Given the description of an element on the screen output the (x, y) to click on. 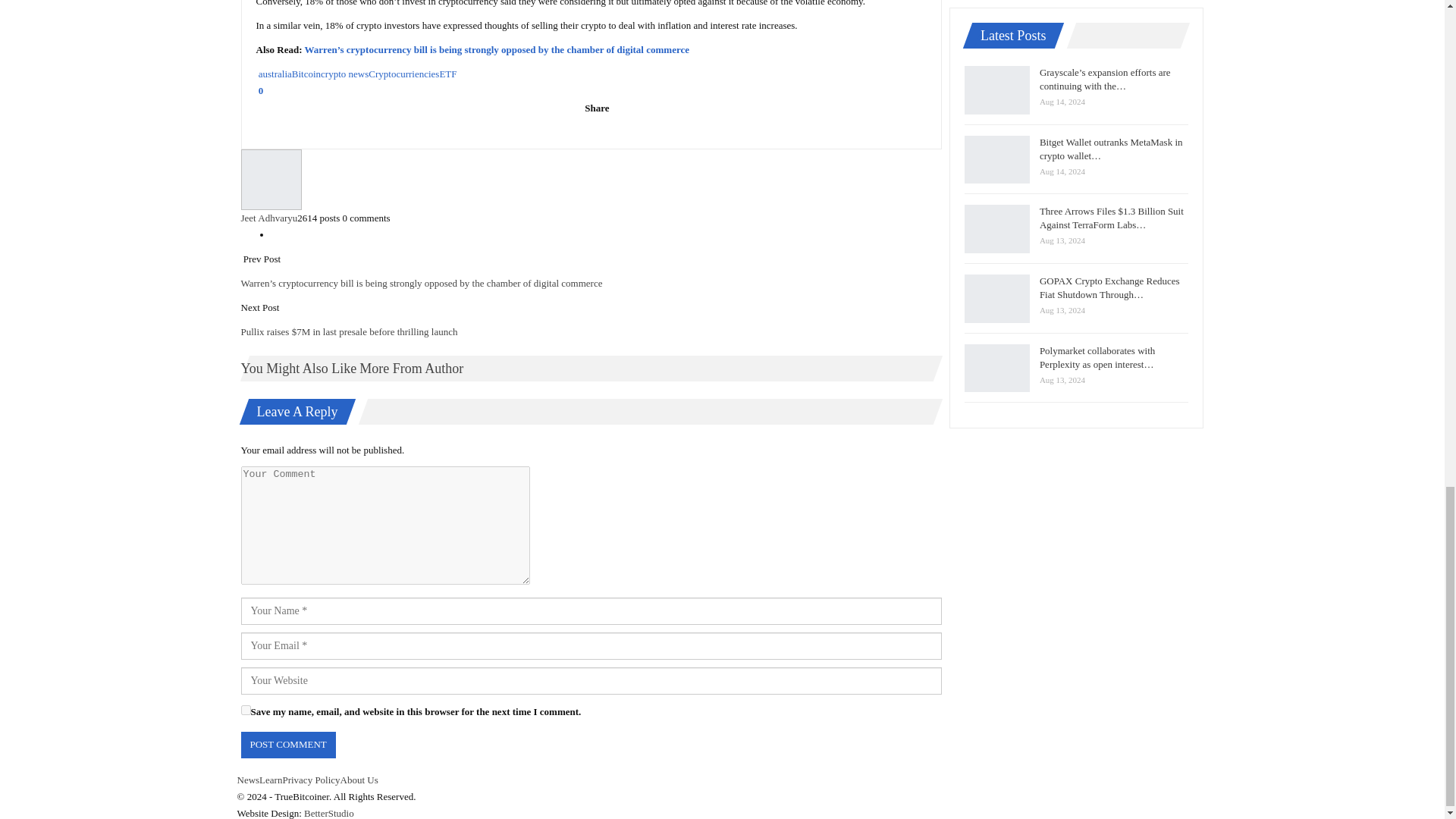
Post Comment (288, 744)
yes (245, 709)
Browse Author Articles (591, 179)
